Given the description of an element on the screen output the (x, y) to click on. 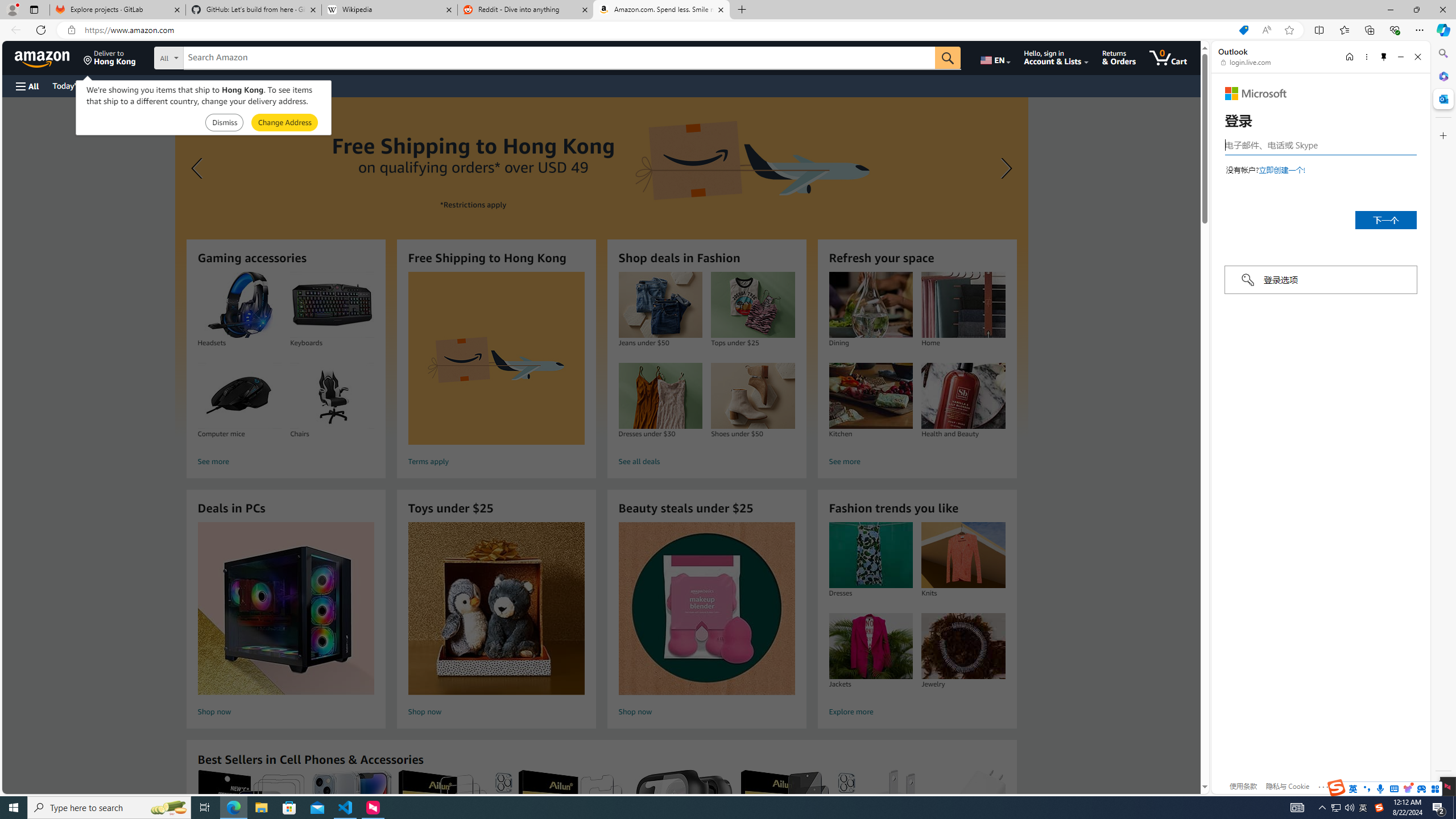
Customer Service (145, 85)
Tops under $25 (752, 304)
Microsoft (1255, 93)
Dining (870, 304)
Computer mice (239, 395)
Dresses (870, 555)
login.live.com (1246, 61)
Shoes under $50 (753, 395)
Search in (210, 58)
